Given the description of an element on the screen output the (x, y) to click on. 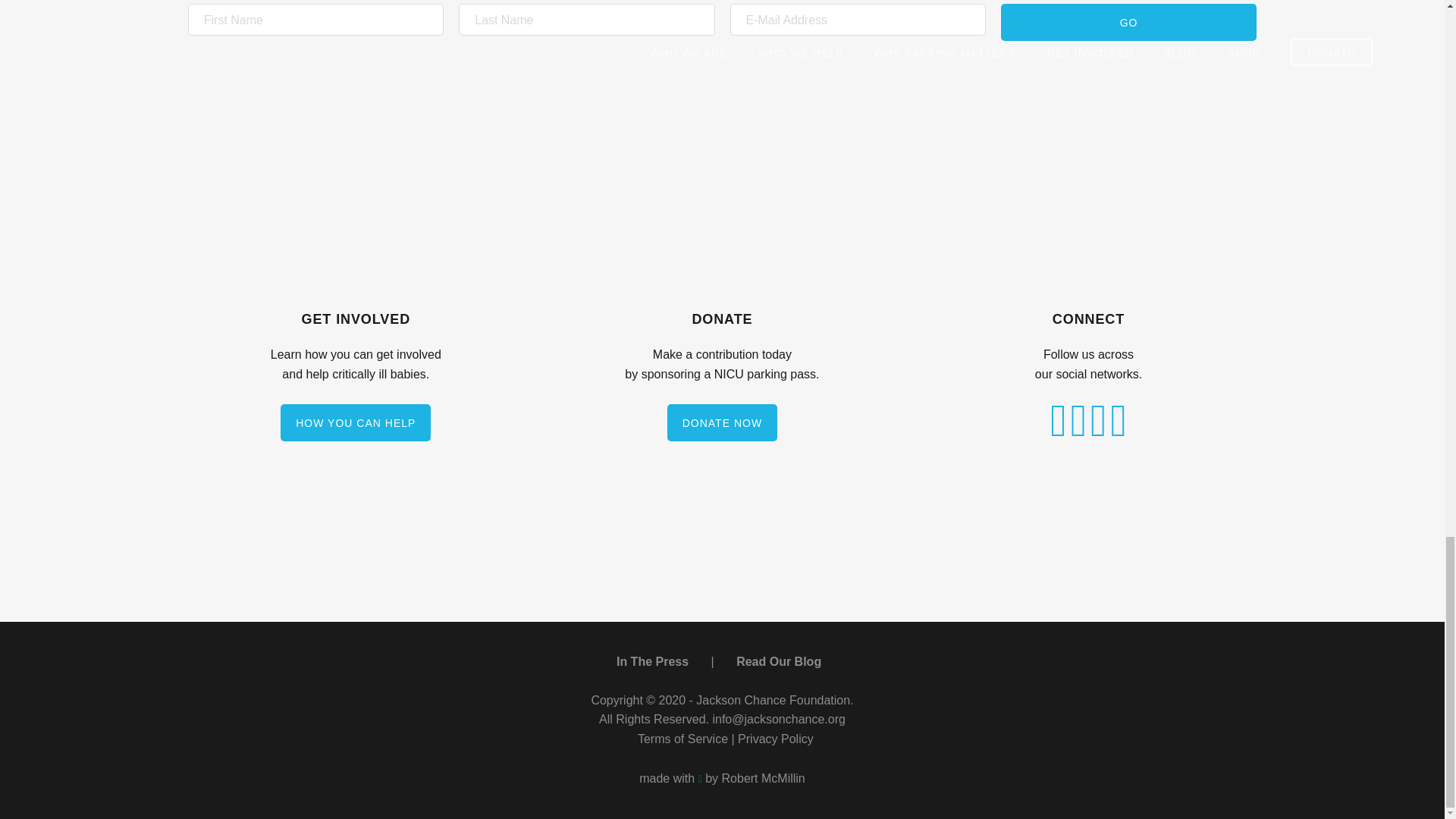
In The Press (651, 661)
DONATE NOW (721, 422)
HOW YOU CAN HELP (355, 422)
Go (1128, 22)
Go (1128, 22)
